Given the description of an element on the screen output the (x, y) to click on. 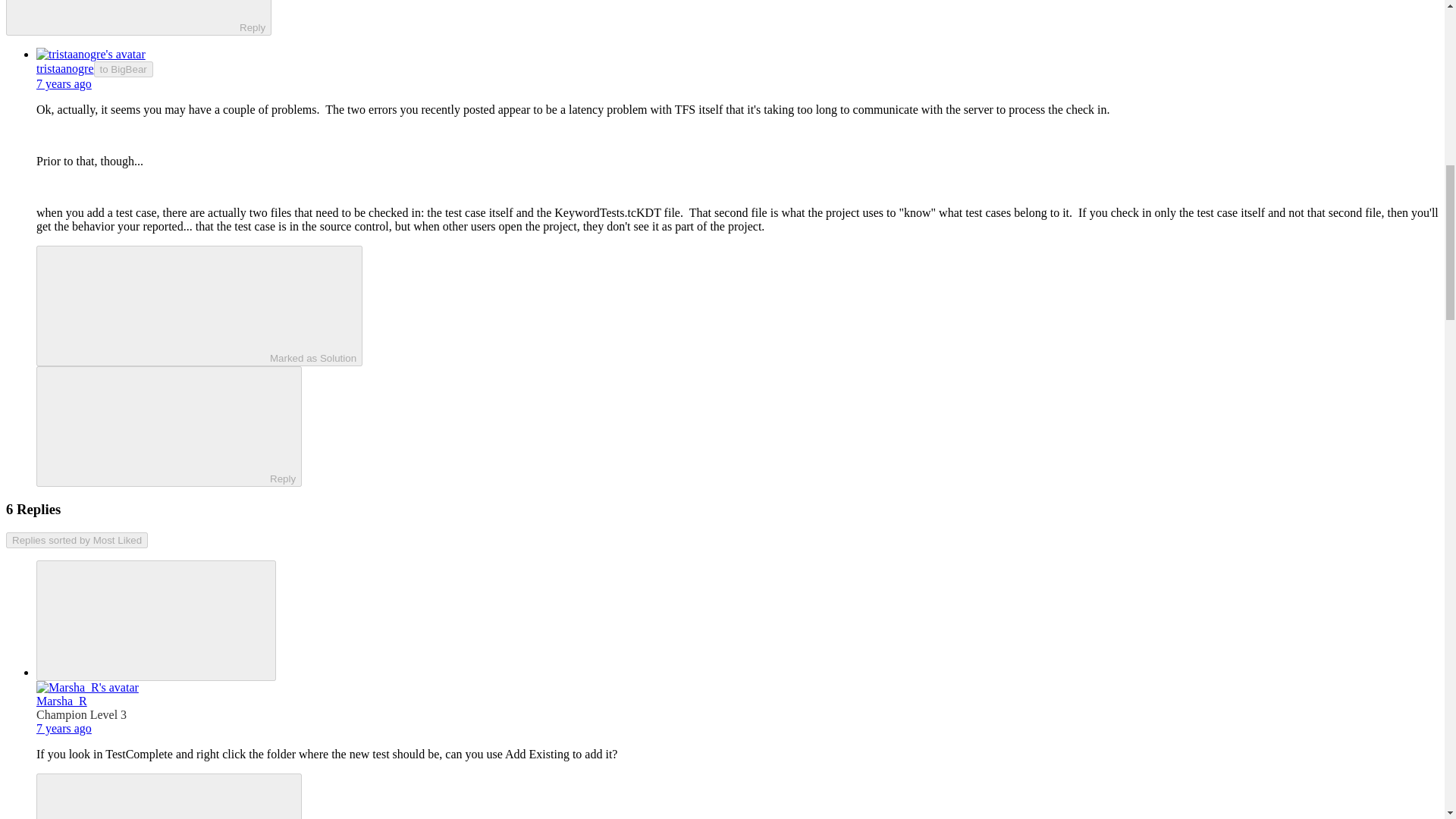
Replies sorted by Most Liked (76, 539)
ReplyReply (168, 426)
February 6, 2018 at 9:15 PM (63, 727)
ReplyReply (168, 796)
Marked as Solution (199, 305)
February 7, 2018 at 2:26 PM (63, 83)
7 years ago (63, 727)
7 years ago (63, 83)
Reply (155, 425)
Reply (155, 797)
tristaanogre (65, 68)
ReplyReply (137, 18)
Reply (125, 15)
to BigBear (123, 68)
